Given the description of an element on the screen output the (x, y) to click on. 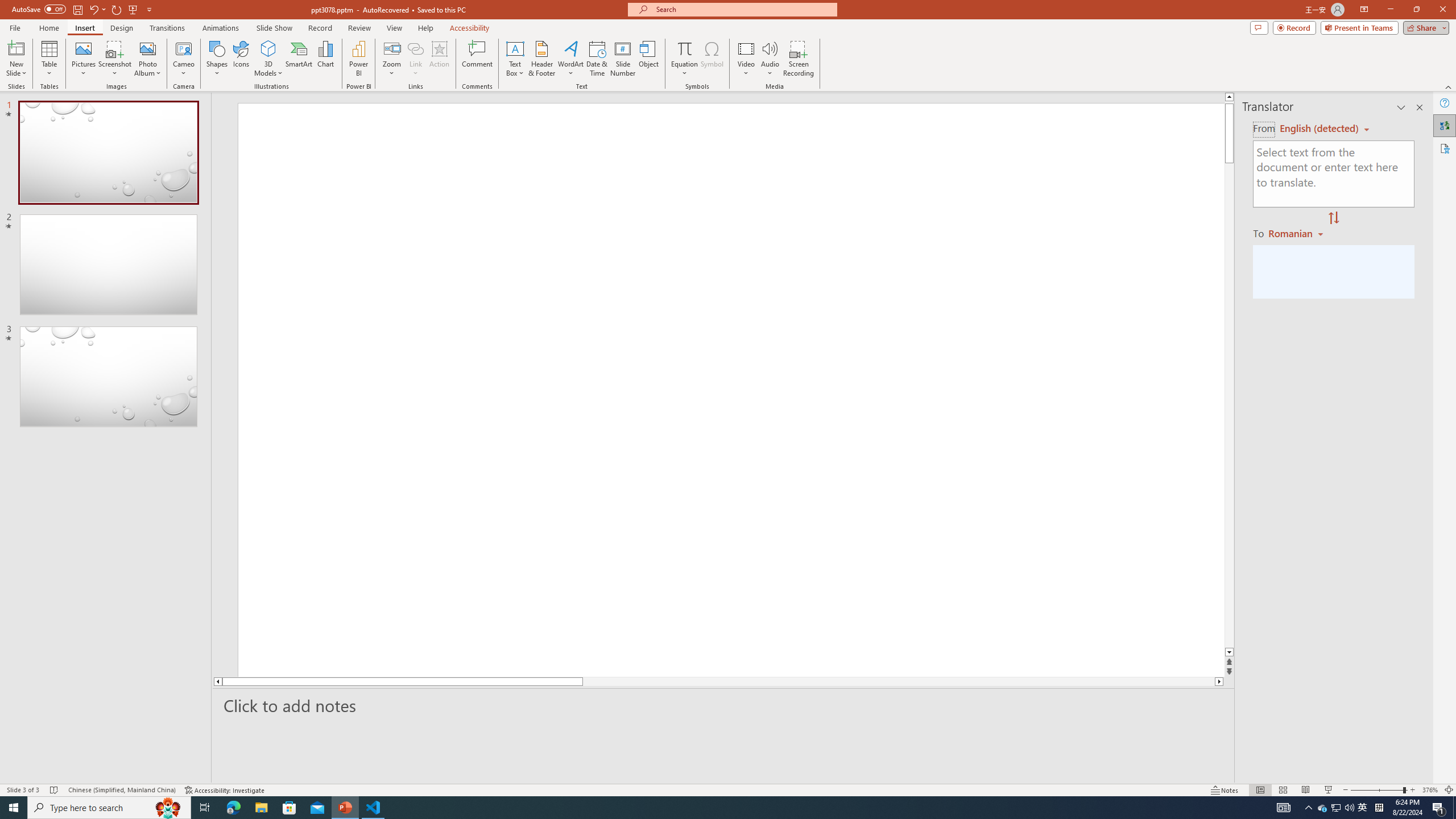
An abstract genetic concept (731, 396)
Equation (683, 48)
3D Models (268, 48)
